Given the description of an element on the screen output the (x, y) to click on. 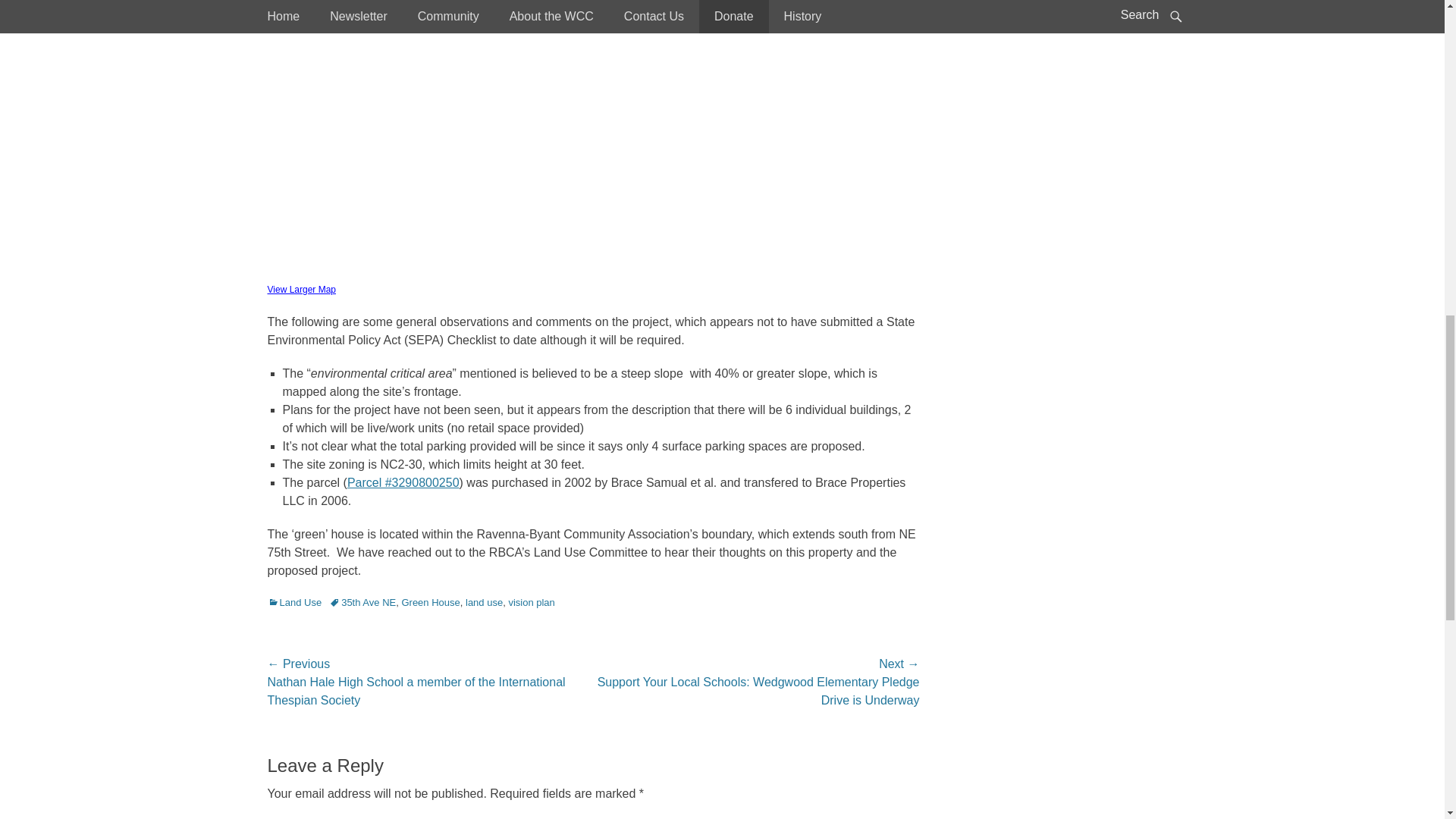
Land Use (293, 601)
View Larger Map (301, 288)
35th Ave NE (362, 601)
Green House (430, 601)
